Given the description of an element on the screen output the (x, y) to click on. 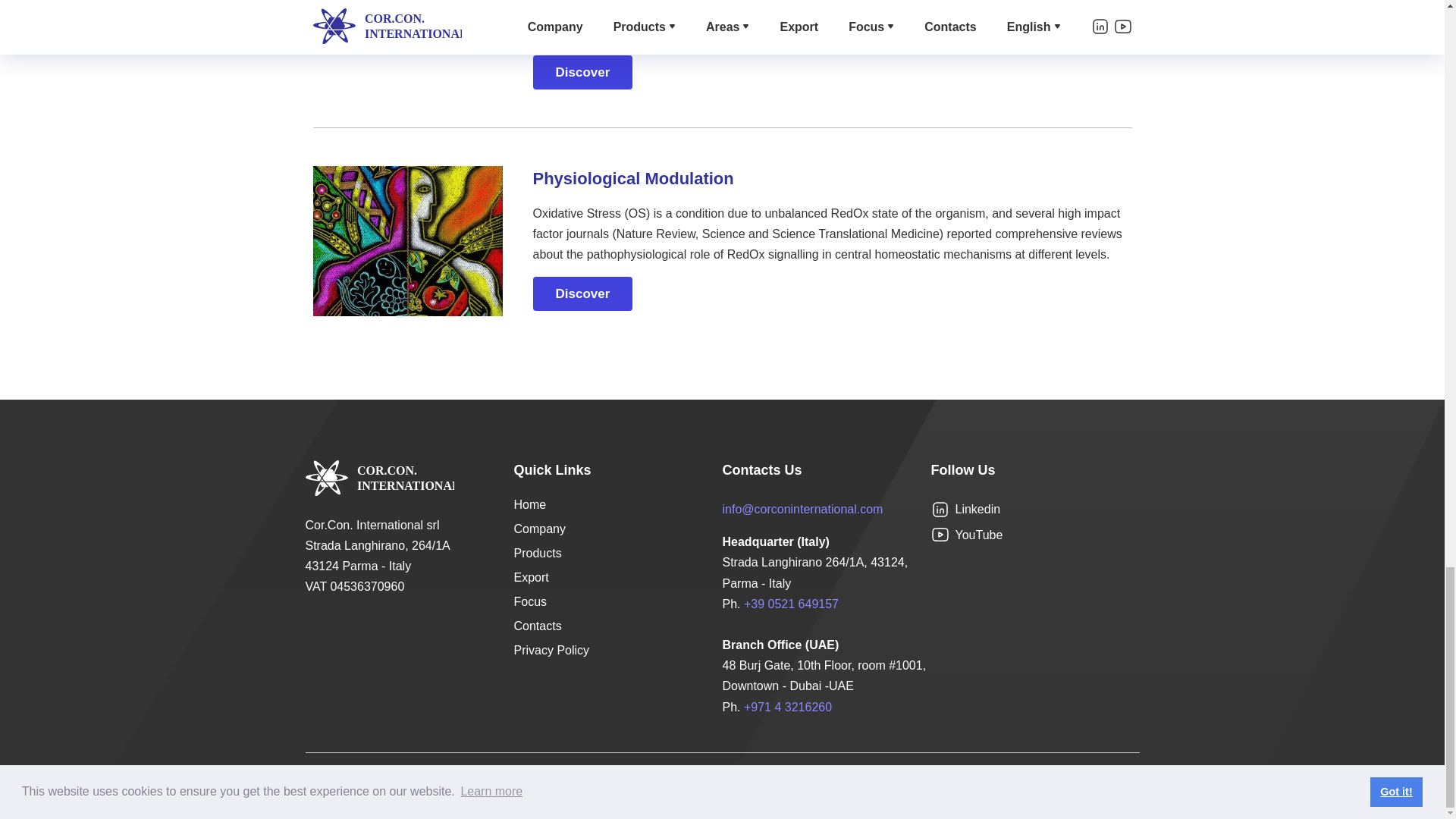
YouTube (967, 534)
COR.CON. INTERNATIONAL (378, 478)
